Given the description of an element on the screen output the (x, y) to click on. 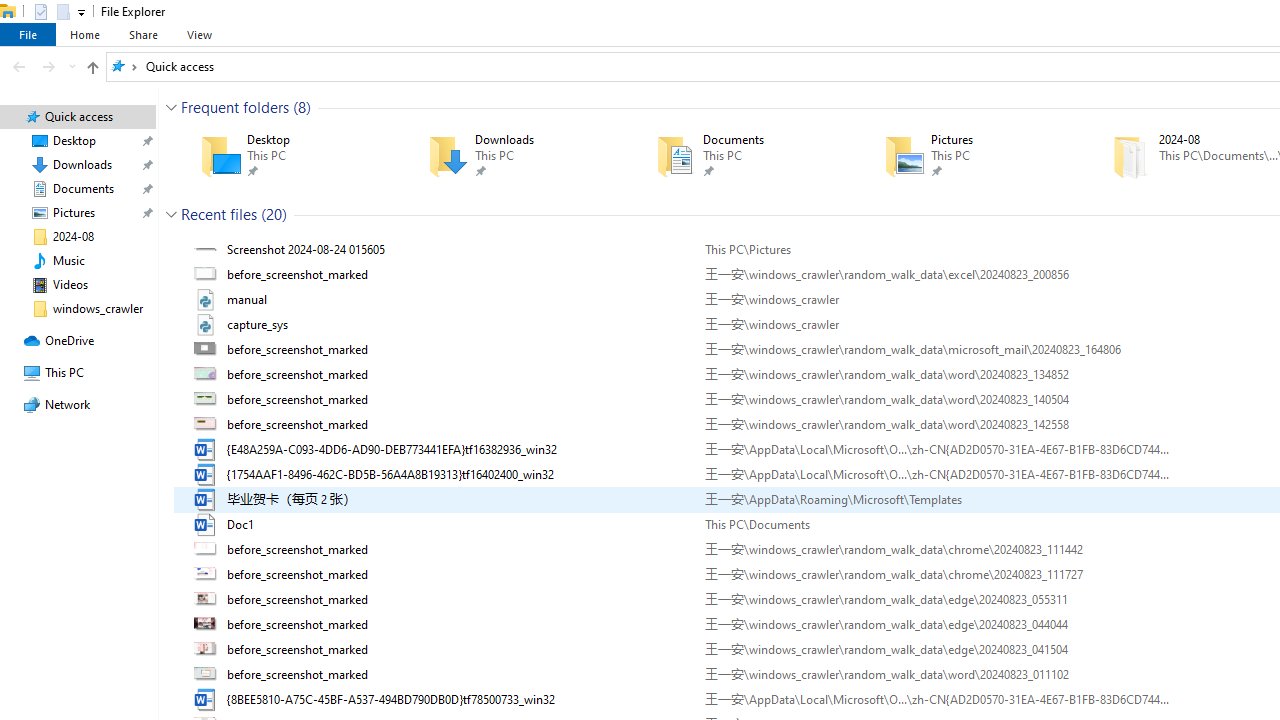
Downloads (513, 156)
System (10, 11)
Quick access (179, 65)
Home (84, 34)
Share (143, 34)
Navigation buttons (41, 66)
Forward (Alt + Right Arrow) (49, 66)
Recent locations (71, 66)
Collapse Group (171, 213)
Back (Alt + Left Arrow) (18, 66)
Count (273, 213)
